Given the description of an element on the screen output the (x, y) to click on. 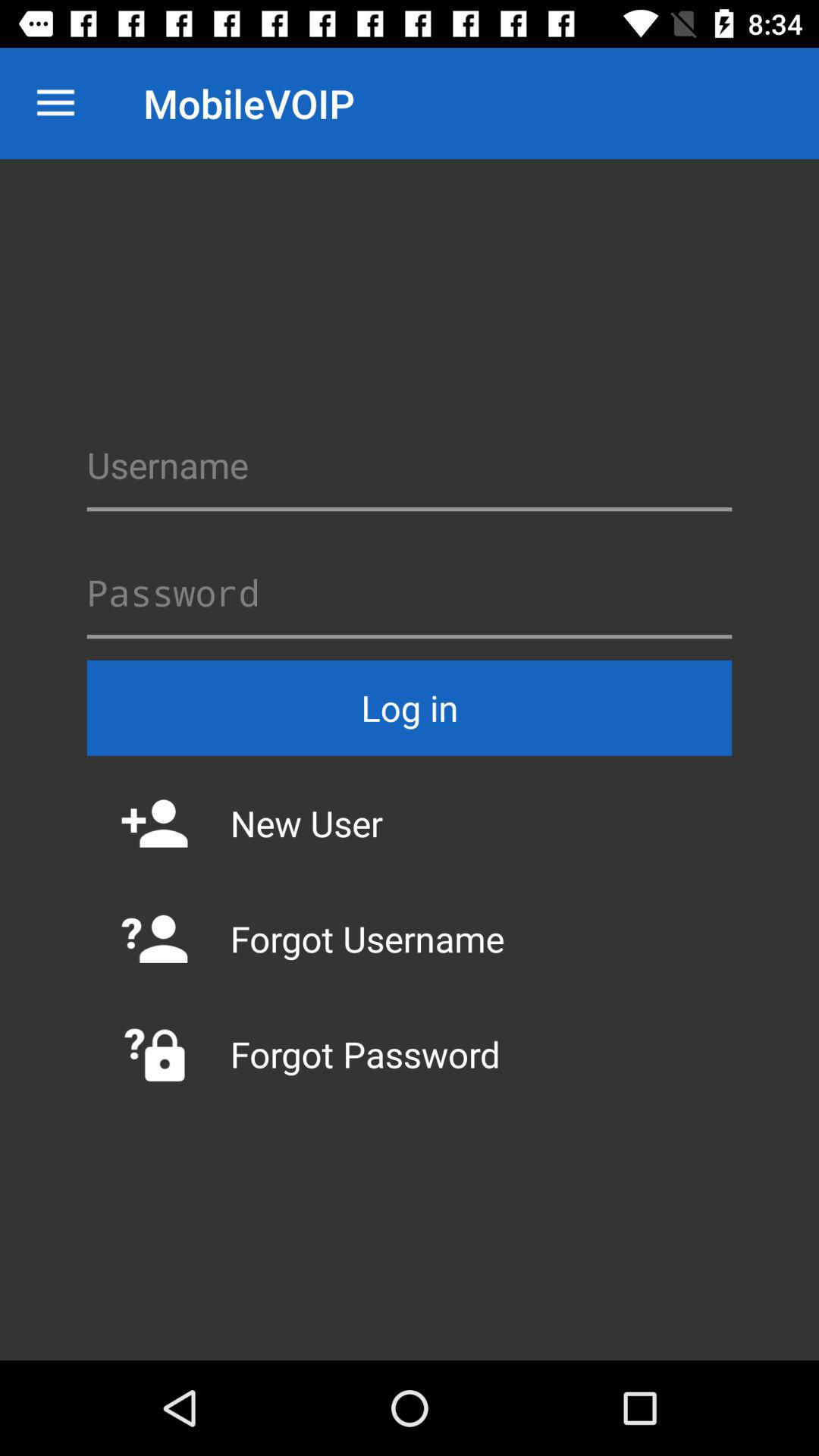
turn off the item below log in icon (409, 823)
